Given the description of an element on the screen output the (x, y) to click on. 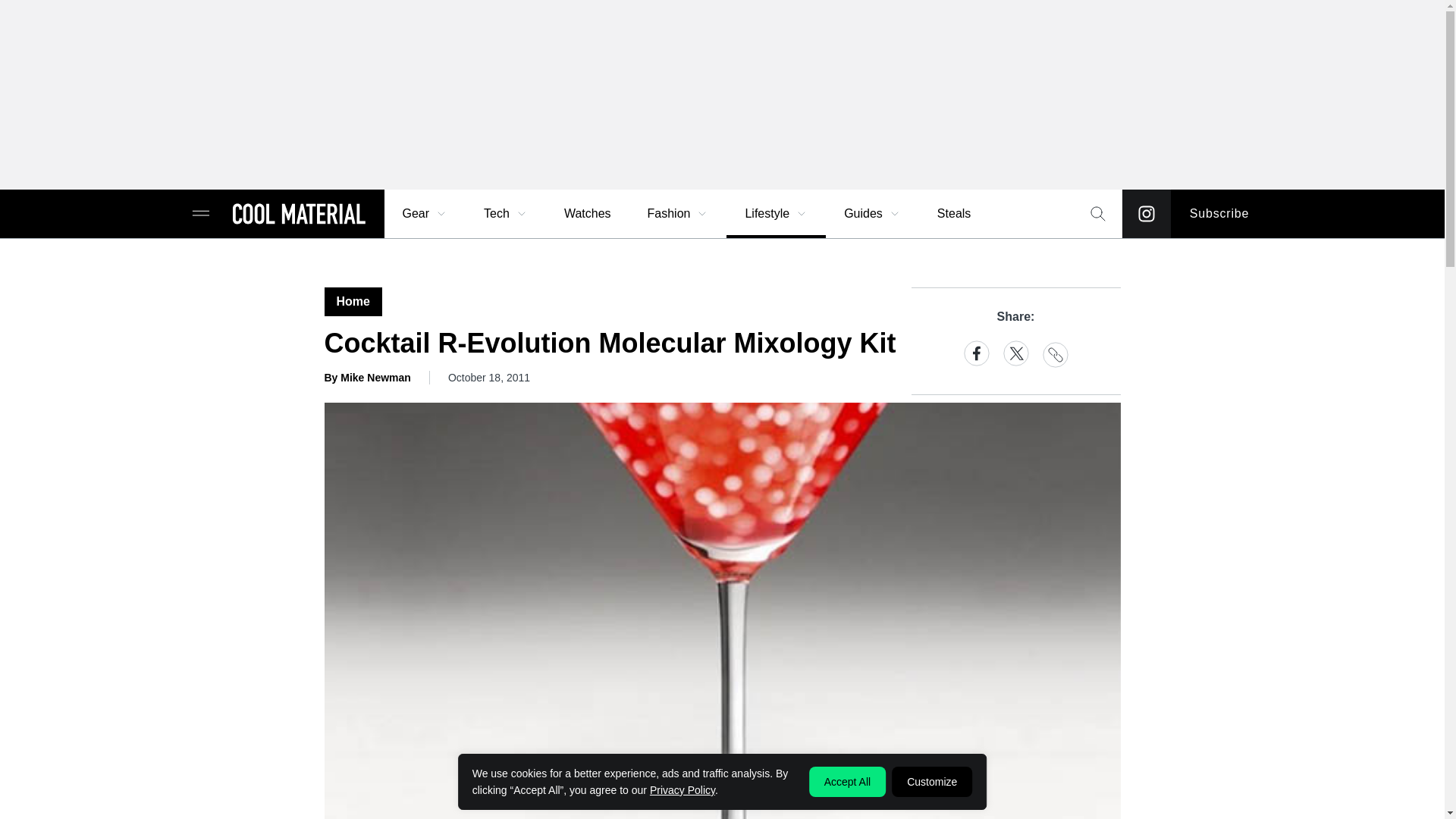
Customize (931, 781)
Fashion (677, 213)
Gear (424, 213)
Privacy Policy (681, 789)
Accept All (847, 781)
Lifestyle (775, 213)
Watches (587, 213)
Tech (505, 213)
